Given the description of an element on the screen output the (x, y) to click on. 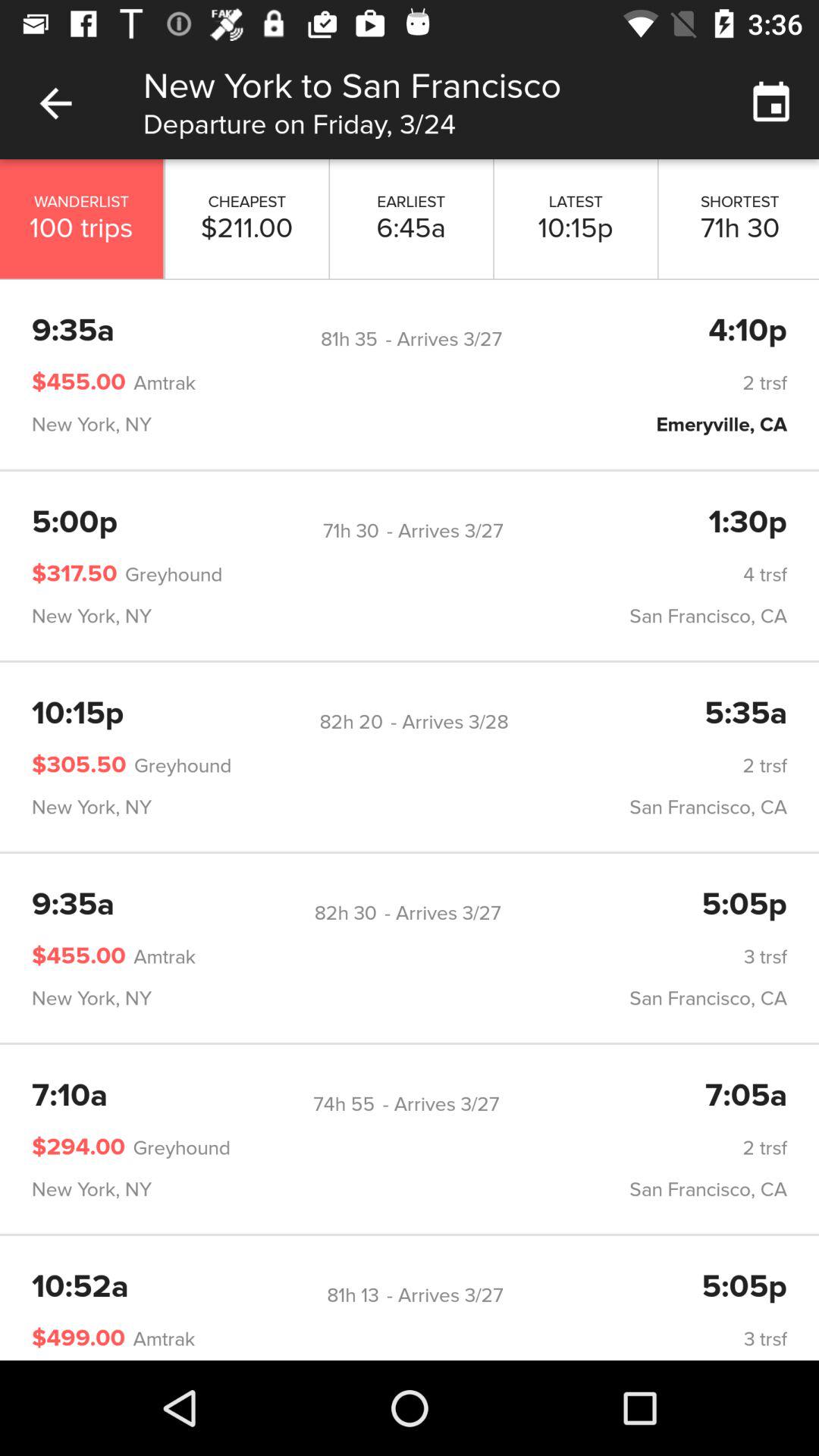
open the 74h 55 icon (343, 1104)
